Given the description of an element on the screen output the (x, y) to click on. 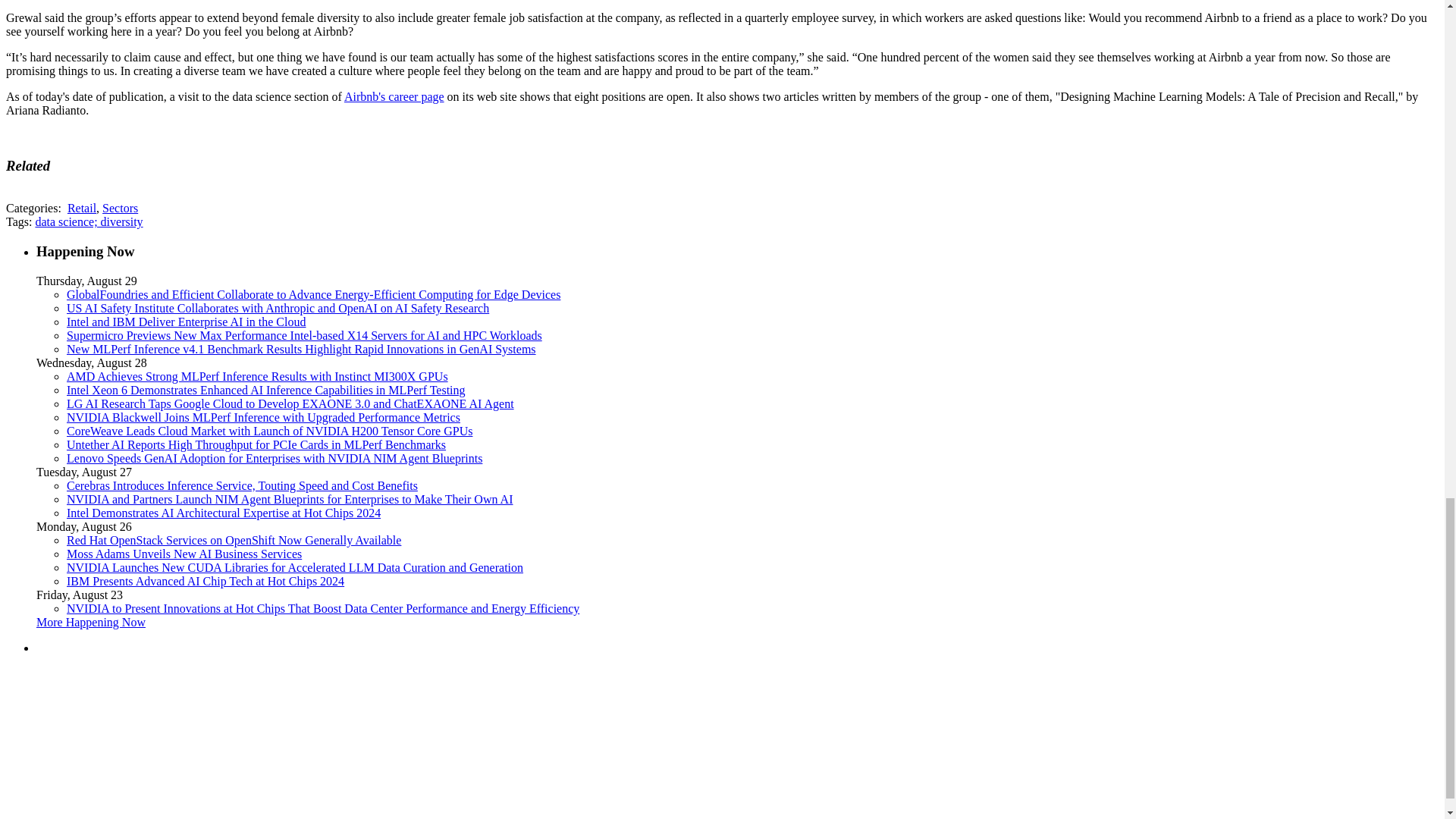
Intel and IBM Deliver Enterprise AI in the Cloud (185, 321)
Airbnb's career page (393, 96)
